Given the description of an element on the screen output the (x, y) to click on. 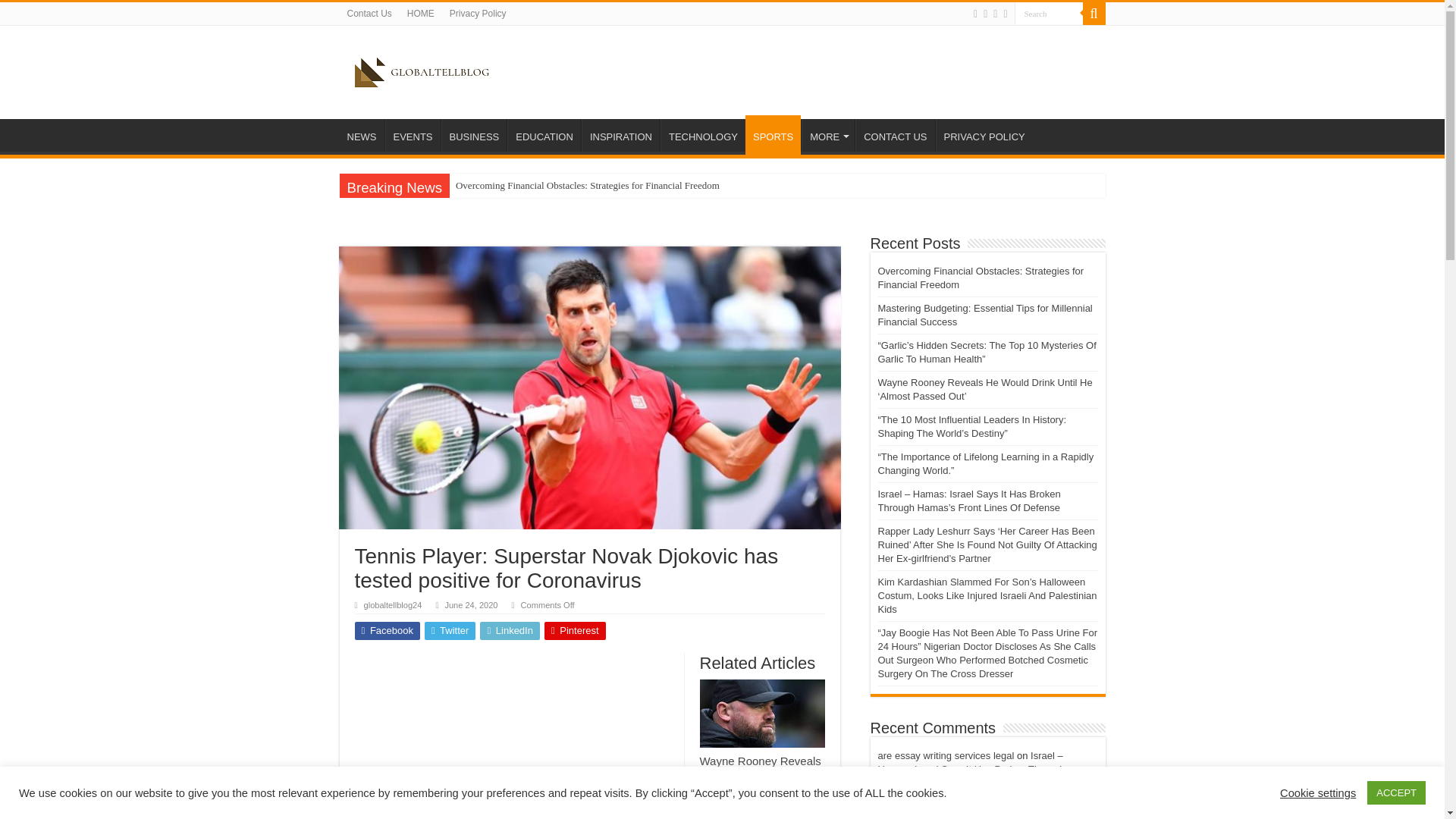
Privacy Policy (477, 13)
MORE (828, 134)
EVENTS (413, 134)
Search (1094, 13)
BUSINESS (473, 134)
Contact Us (368, 13)
Search (1048, 13)
CONTACT US (895, 134)
Search (1048, 13)
